Given the description of an element on the screen output the (x, y) to click on. 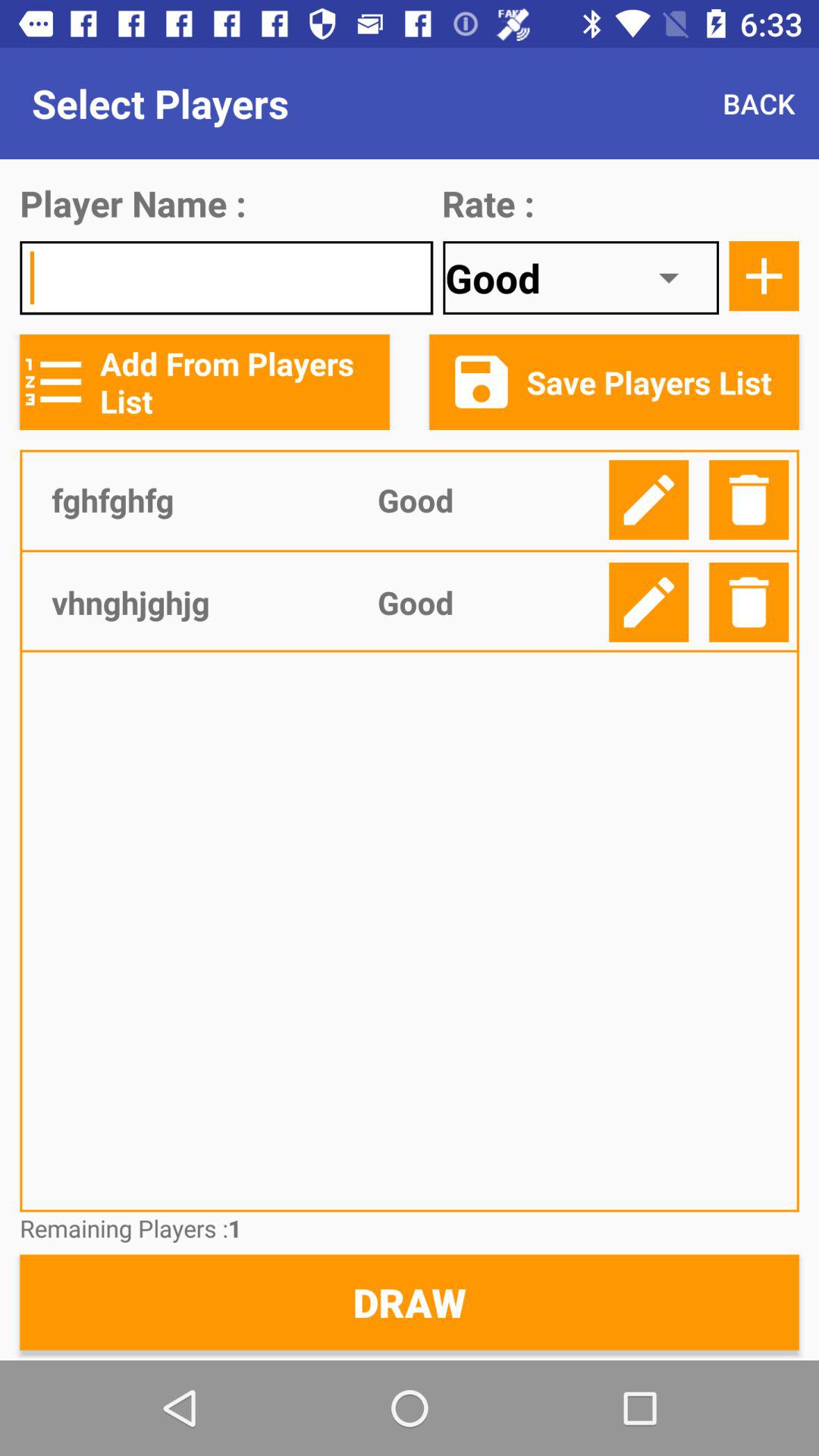
click edit options (648, 602)
